Given the description of an element on the screen output the (x, y) to click on. 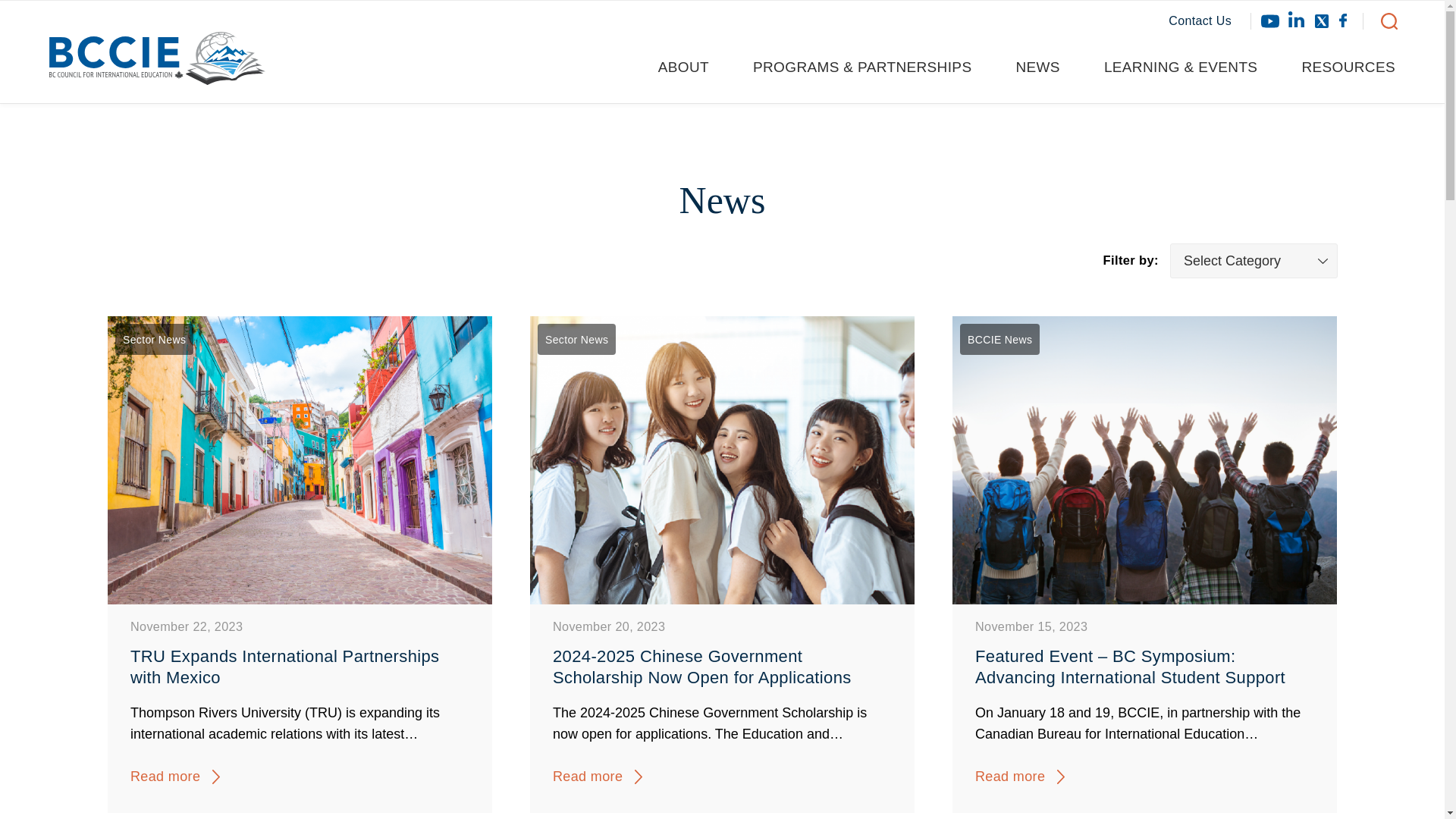
China webinar-02 Element type: hover (722, 460)
Read more Element type: text (587, 775)
Contact Us Element type: text (1209, 20)
RESOURCES Element type: text (1343, 67)
LEARNING & EVENTS Element type: text (1193, 67)
PROGRAMS & PARTNERSHIPS Element type: text (874, 67)
Read more Element type: text (1009, 775)
Read more Element type: text (165, 775)
CBIE BCCIE thumbnail news Element type: hover (1144, 460)
bccie-logo Element type: hover (157, 57)
AdobeStock_227984990 1 Element type: hover (299, 460)
TRU Expands International Partnerships with Mexico Element type: text (299, 667)
ABOUT Element type: text (695, 67)
bccie-logo Element type: hover (157, 65)
NEWS Element type: text (1049, 67)
